Given the description of an element on the screen output the (x, y) to click on. 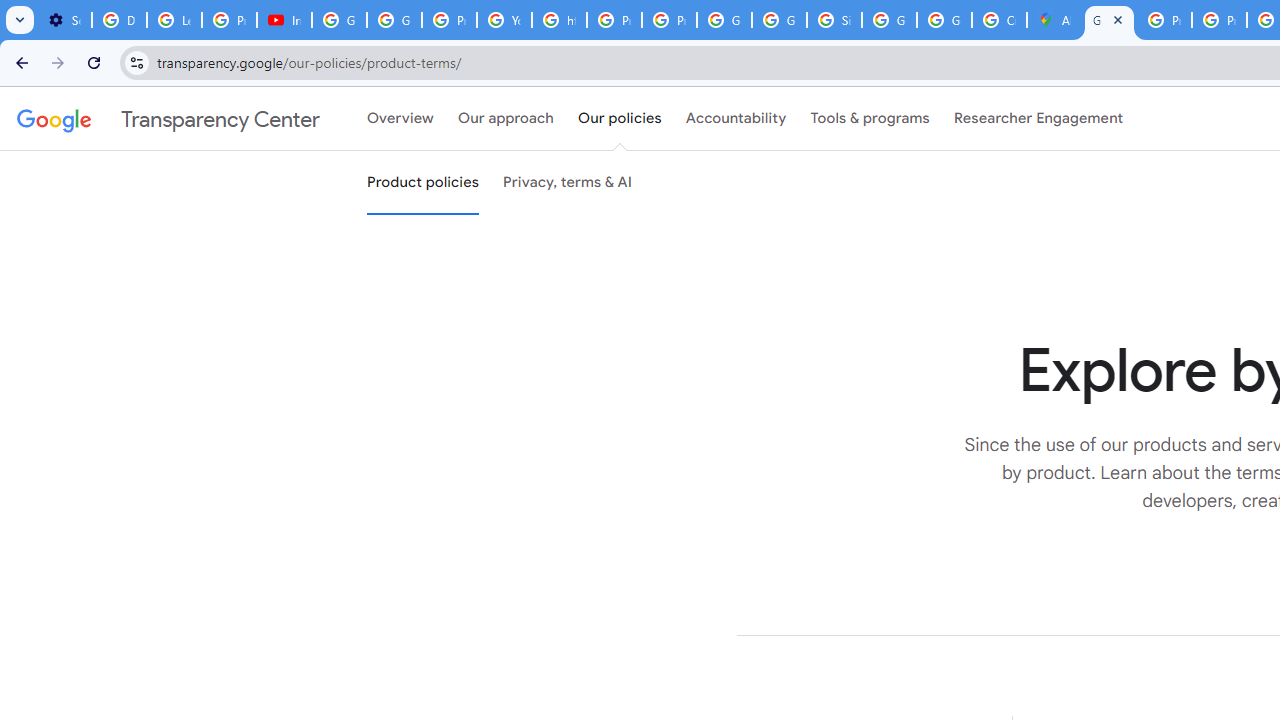
Transparency Center (167, 119)
Delete photos & videos - Computer - Google Photos Help (119, 20)
Settings - Performance (64, 20)
Create your Google Account (998, 20)
Tools & programs (869, 119)
Researcher Engagement (1038, 119)
